Given the description of an element on the screen output the (x, y) to click on. 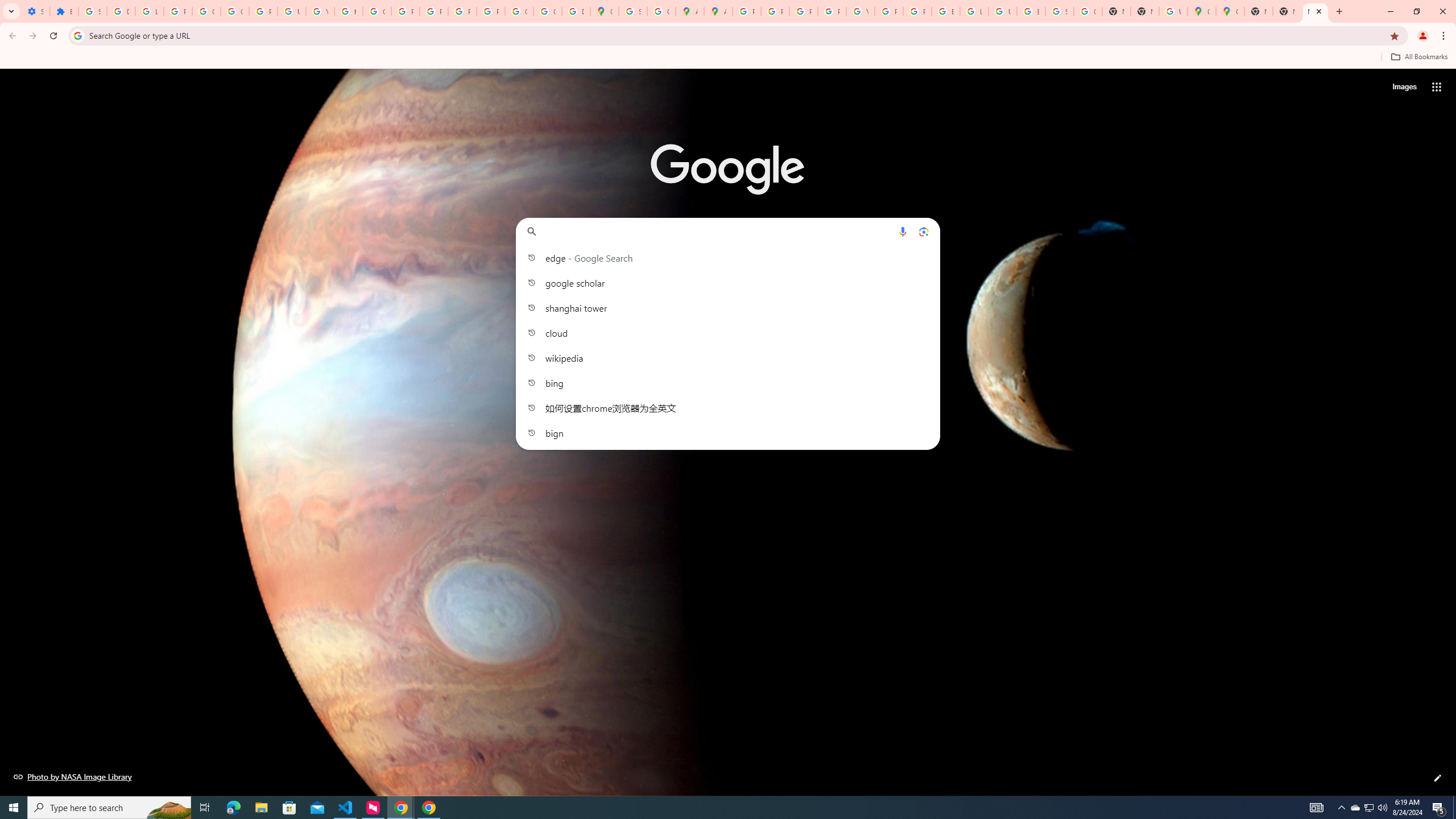
Use Google Maps in Space - Google Maps Help (1173, 11)
Delete photos & videos - Computer - Google Photos Help (120, 11)
New Tab (1258, 11)
New Tab (1315, 11)
Customize this page (1437, 778)
